Given the description of an element on the screen output the (x, y) to click on. 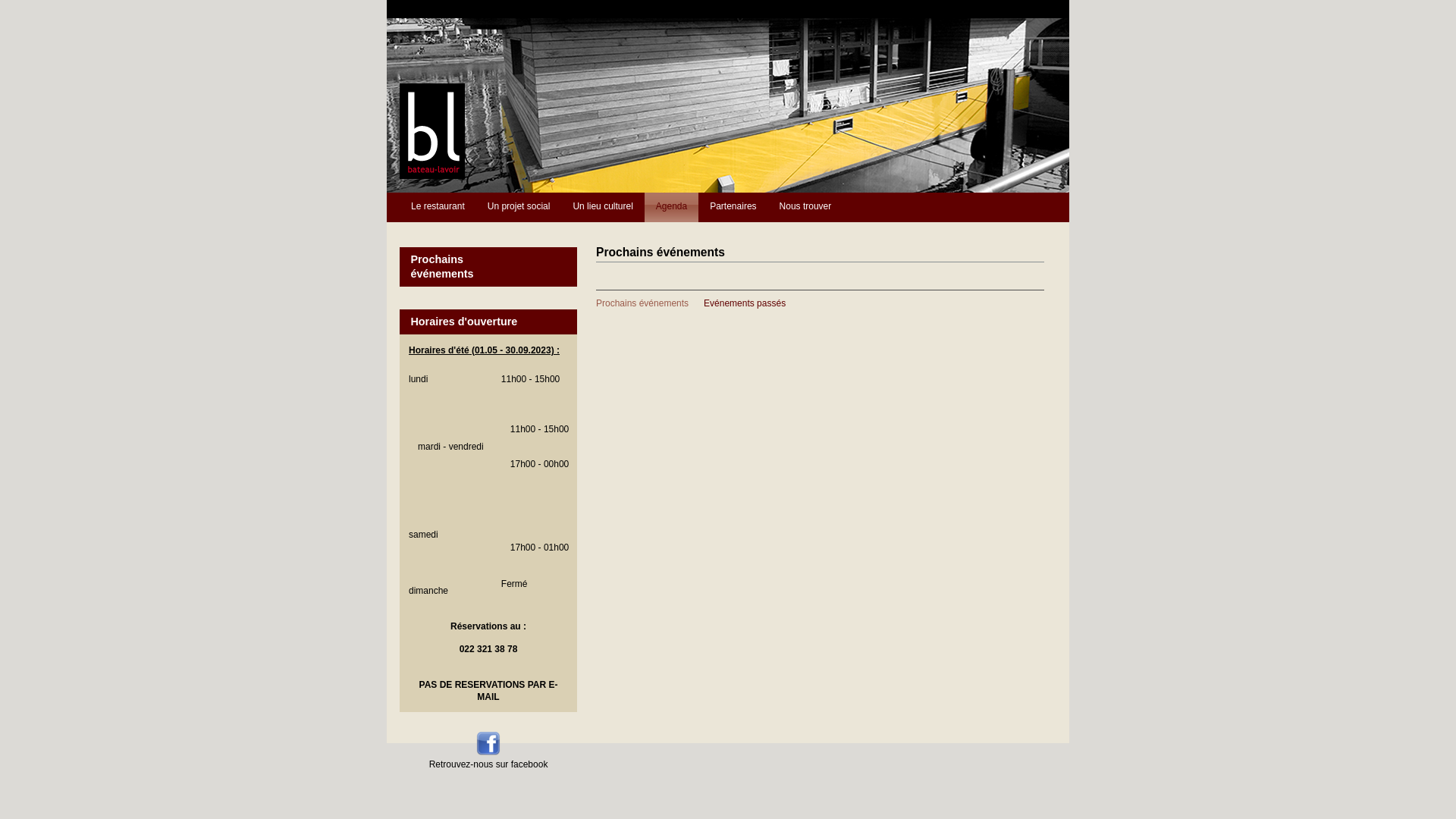
Nous trouver Element type: text (805, 207)
Bateau-Lavoir Element type: hover (488, 752)
Le restaurant Element type: text (437, 207)
Un lieu culturel Element type: text (602, 207)
Le restaurant Element type: hover (431, 175)
Partenaires Element type: text (732, 207)
Un projet social Element type: text (518, 207)
Agenda Element type: text (671, 207)
